Given the description of an element on the screen output the (x, y) to click on. 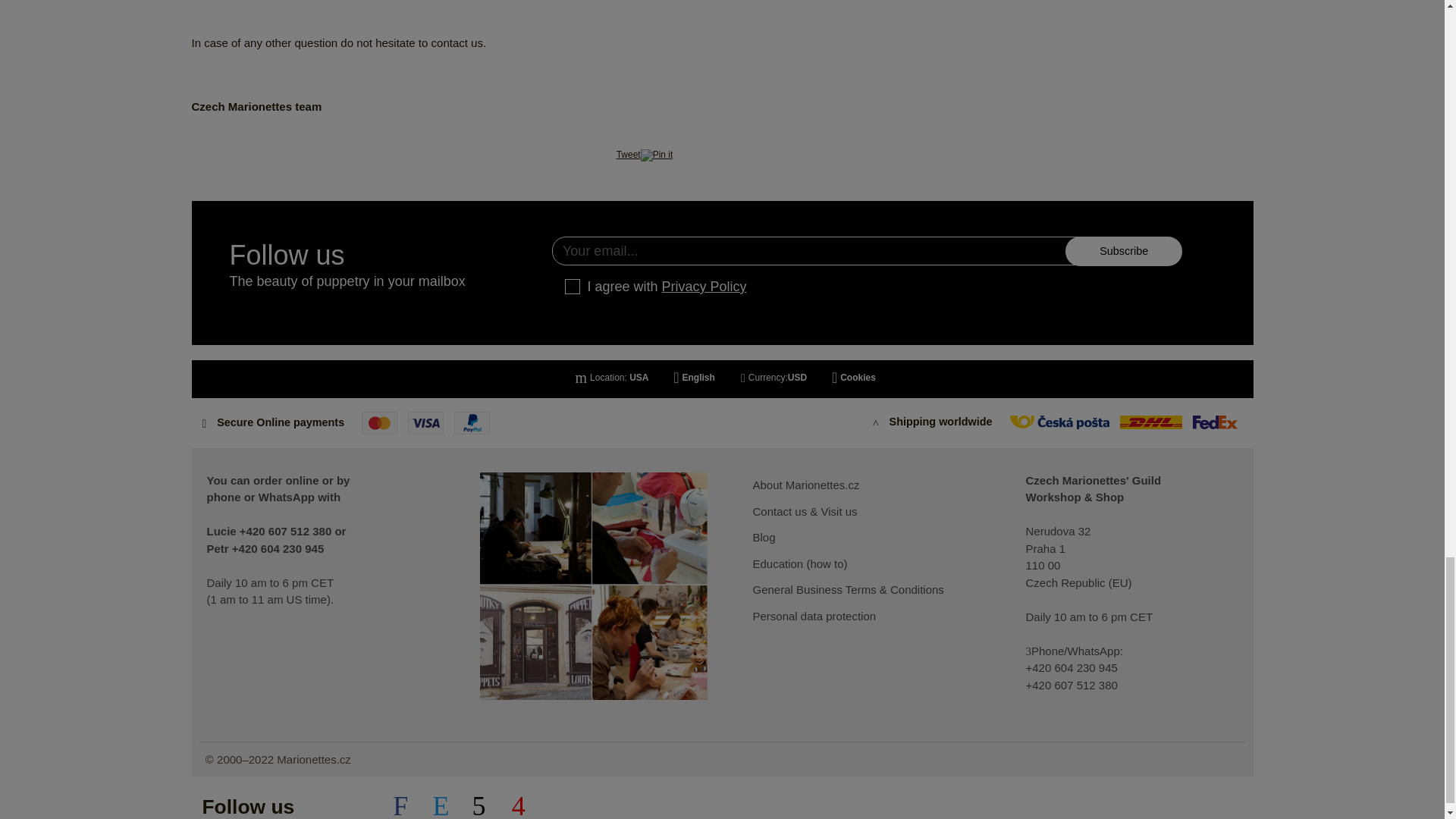
Subscribe (1122, 250)
